Given the description of an element on the screen output the (x, y) to click on. 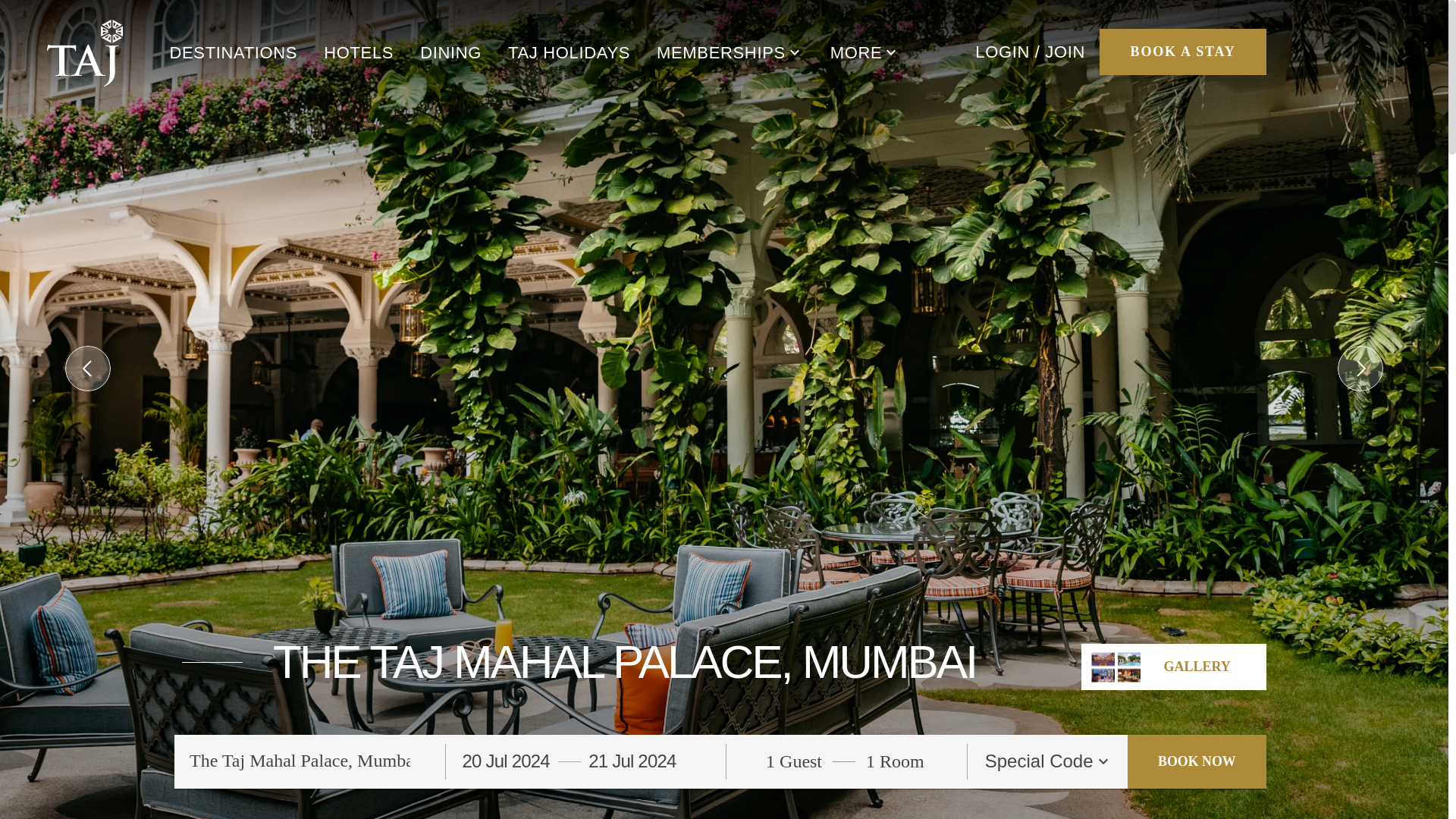
TAJ HOLIDAYS (569, 52)
The Taj Mahal Palace, Mumbai (299, 761)
BOOK A STAY (1182, 51)
HOTELS (358, 52)
DESTINATIONS (232, 52)
DINING (450, 52)
